Given the description of an element on the screen output the (x, y) to click on. 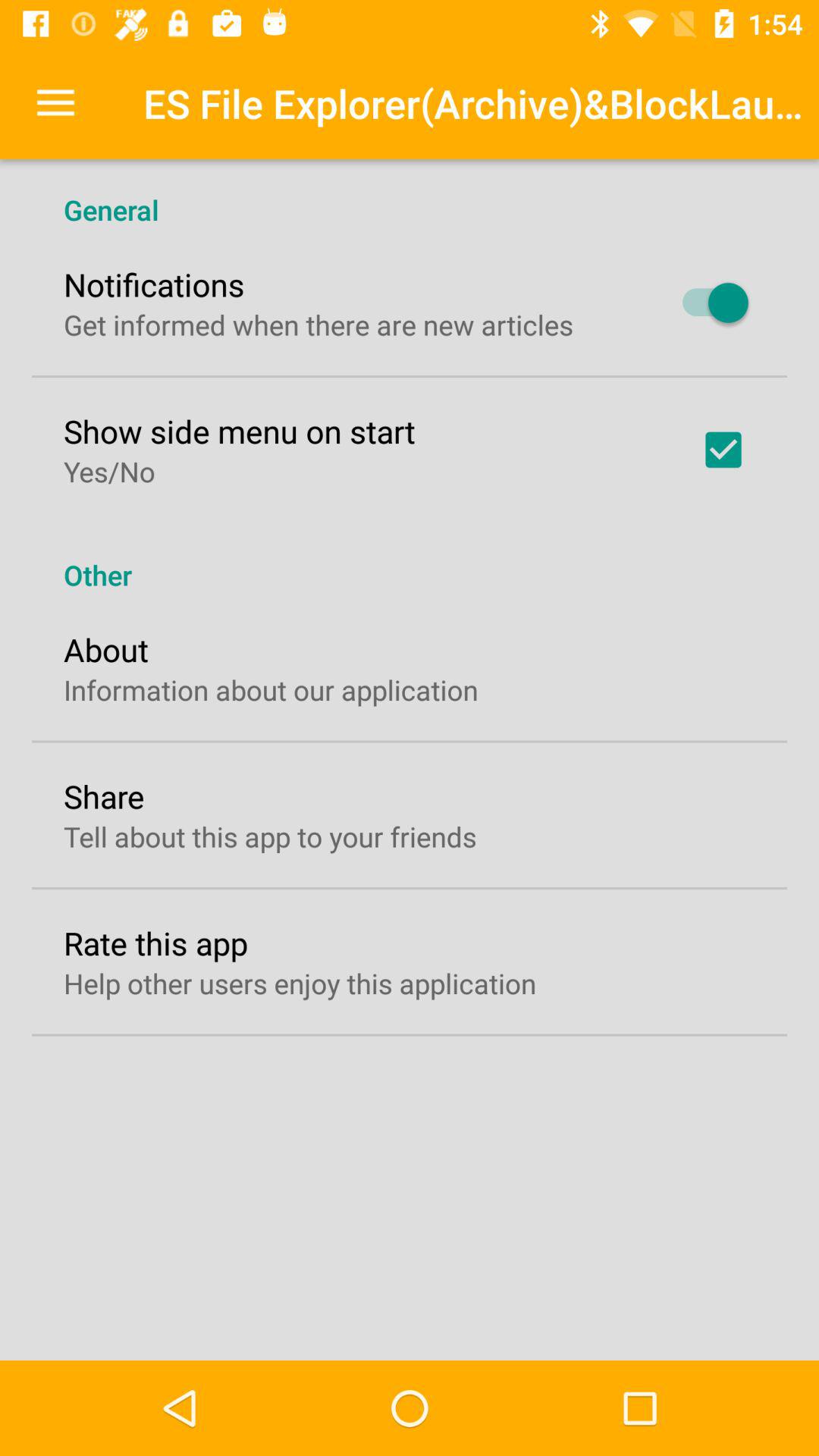
turn off the help other users item (299, 983)
